Given the description of an element on the screen output the (x, y) to click on. 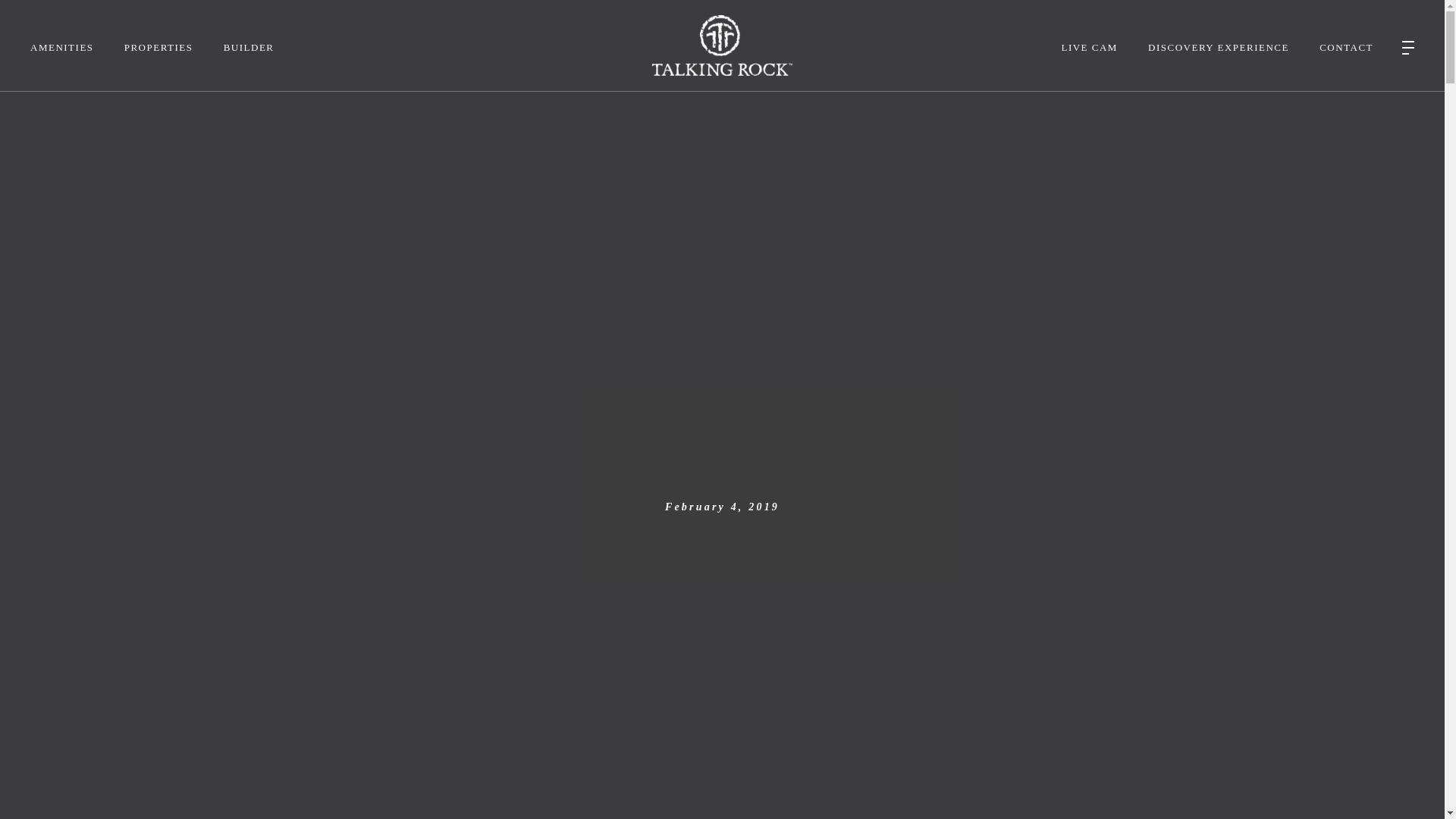
LIVE CAM (1088, 47)
BUILDER (249, 47)
DISCOVERY EXPERIENCE (1218, 47)
CONTACT (1346, 47)
AMENITIES (62, 47)
PROPERTIES (158, 47)
